Given the description of an element on the screen output the (x, y) to click on. 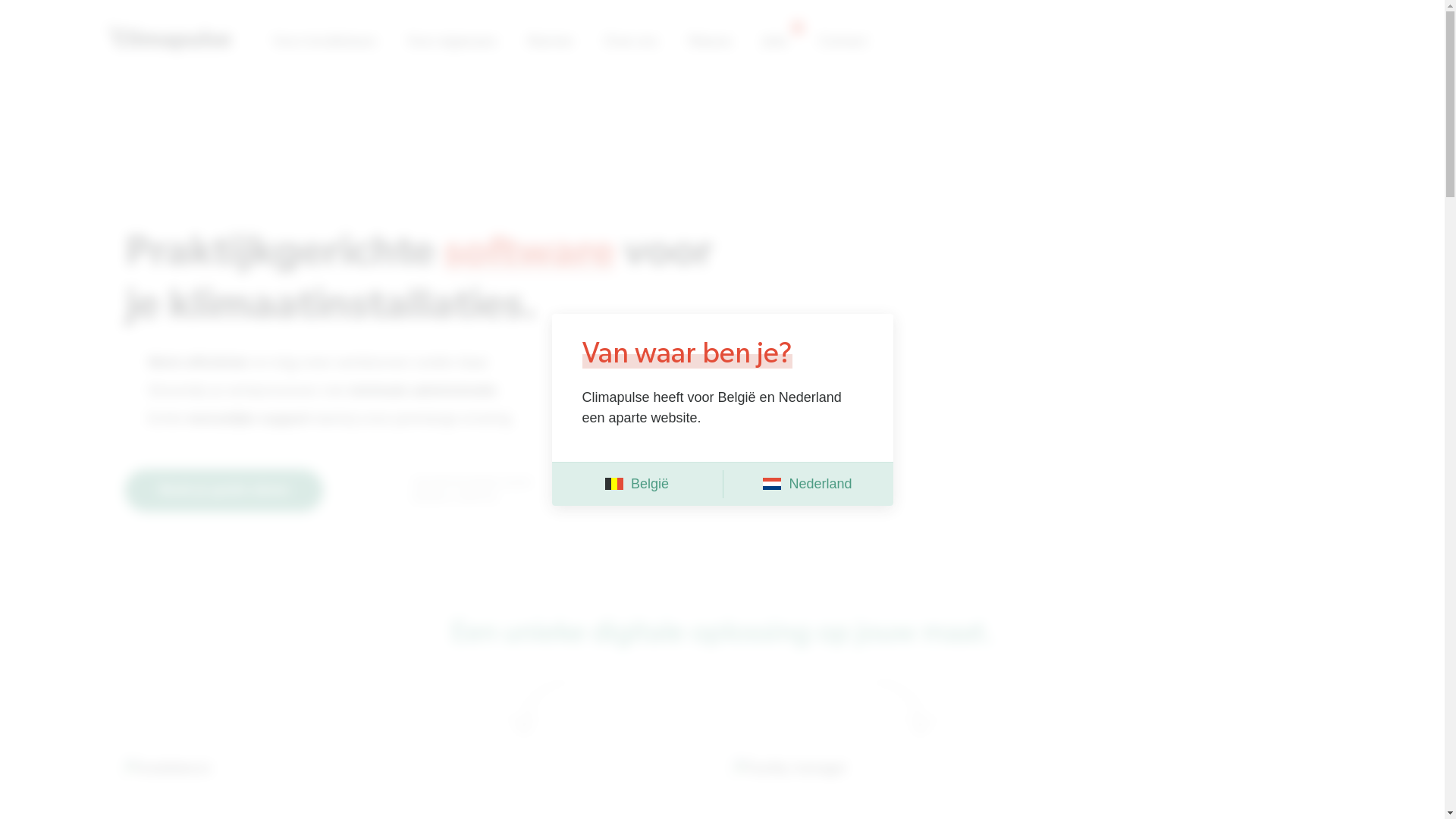
Jobs Element type: text (774, 41)
Aanmelden Element type: text (1097, 41)
Klanten Element type: text (549, 41)
GECERTIFICEERD DOOR BUREAU VERITAS Element type: text (450, 489)
Over ons Element type: text (630, 41)
Zoeken Element type: text (920, 185)
Boek demo Element type: text (1209, 41)
Nieuws Element type: text (709, 41)
Boek je gratis demo Element type: text (224, 489)
Voor installateurs Element type: text (323, 41)
Contact Element type: text (842, 41)
Voor eigenaars Element type: text (452, 41)
Nederland Element type: text (806, 483)
